Given the description of an element on the screen output the (x, y) to click on. 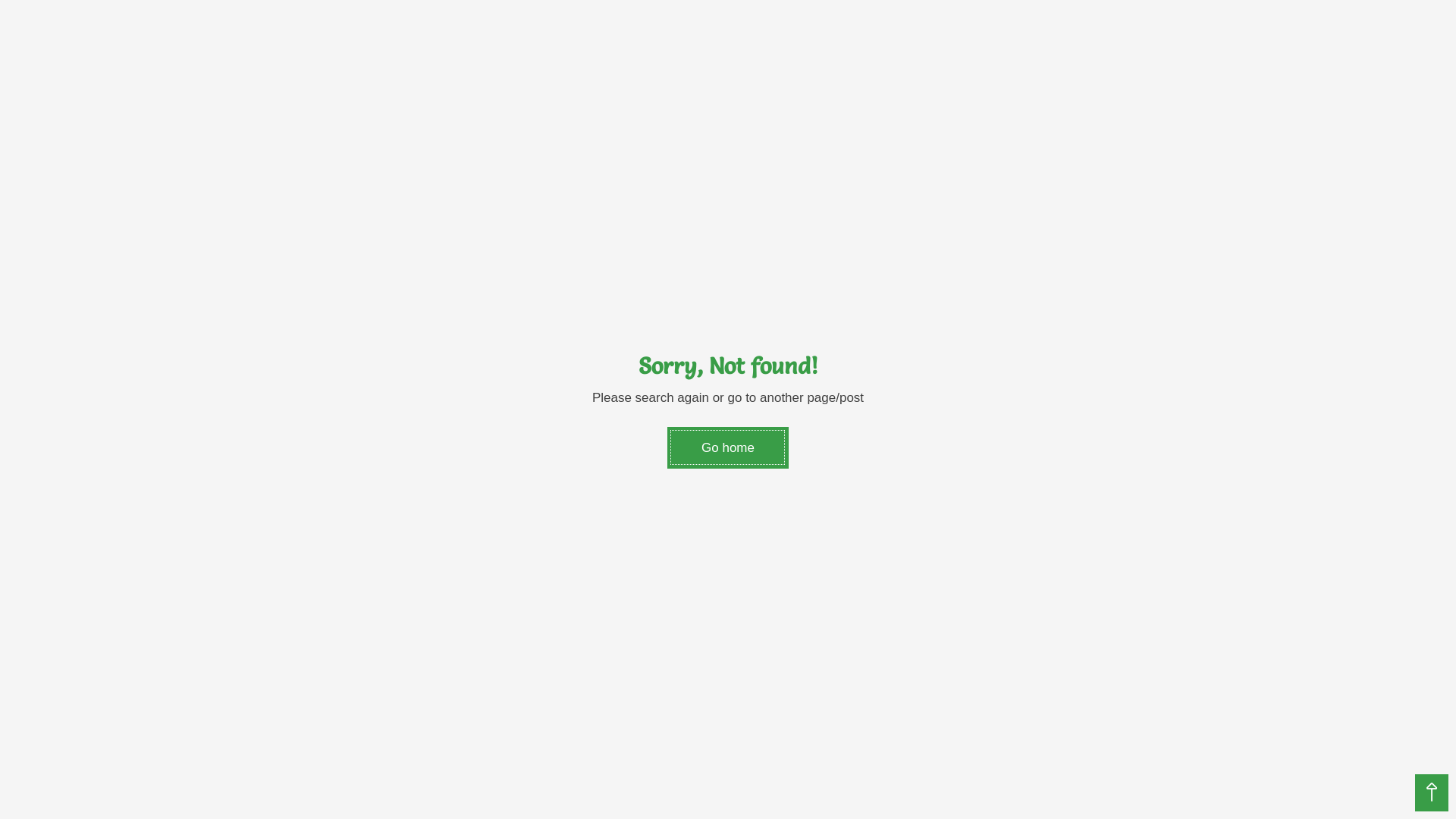
Go home Element type: text (727, 447)
